Given the description of an element on the screen output the (x, y) to click on. 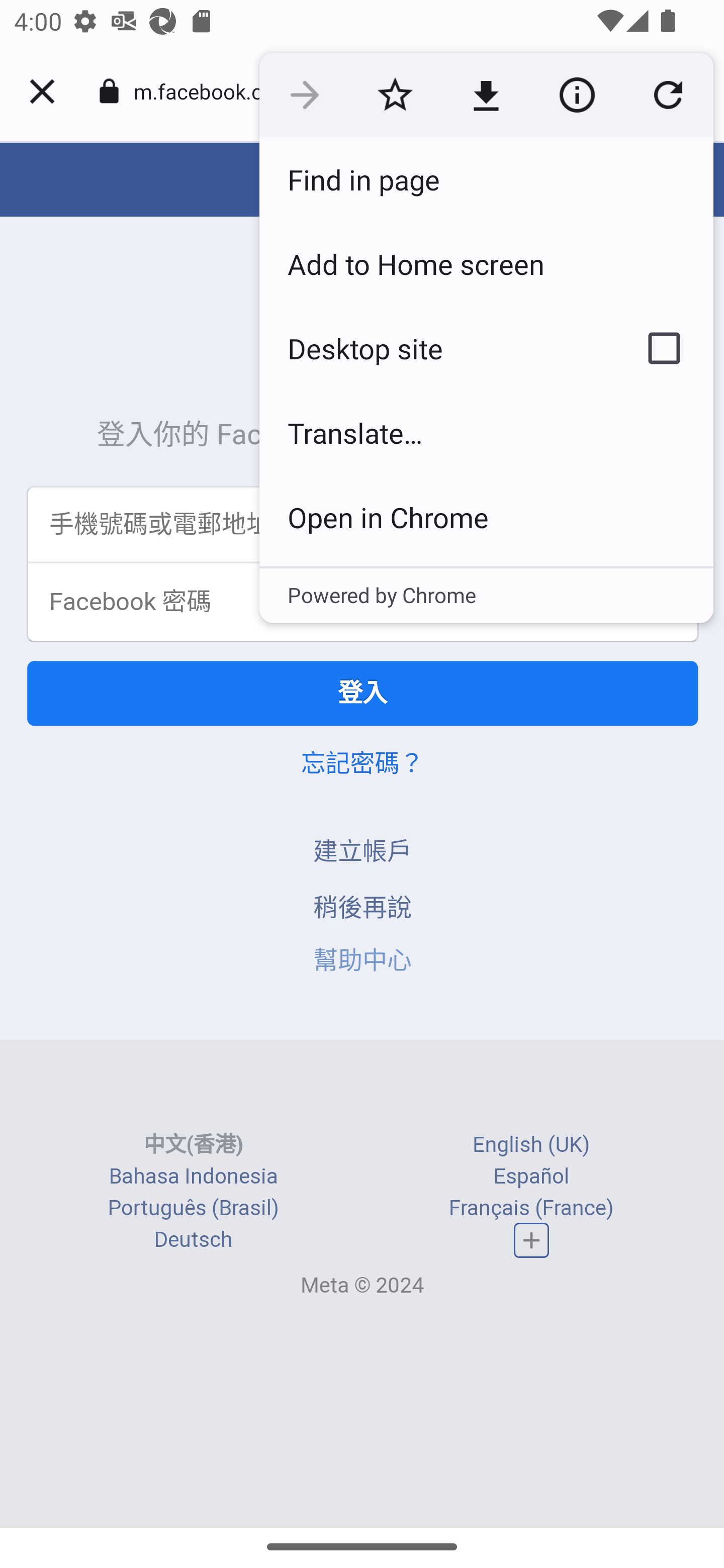
Go forward (304, 95)
Bookmark (394, 95)
Download page (485, 95)
View site information (576, 95)
Refresh (667, 95)
Find in page (486, 179)
Add to Home screen (486, 263)
Desktop site Turn on Request desktop site (436, 347)
Translate… (486, 432)
Open in Chrome (486, 517)
